Given the description of an element on the screen output the (x, y) to click on. 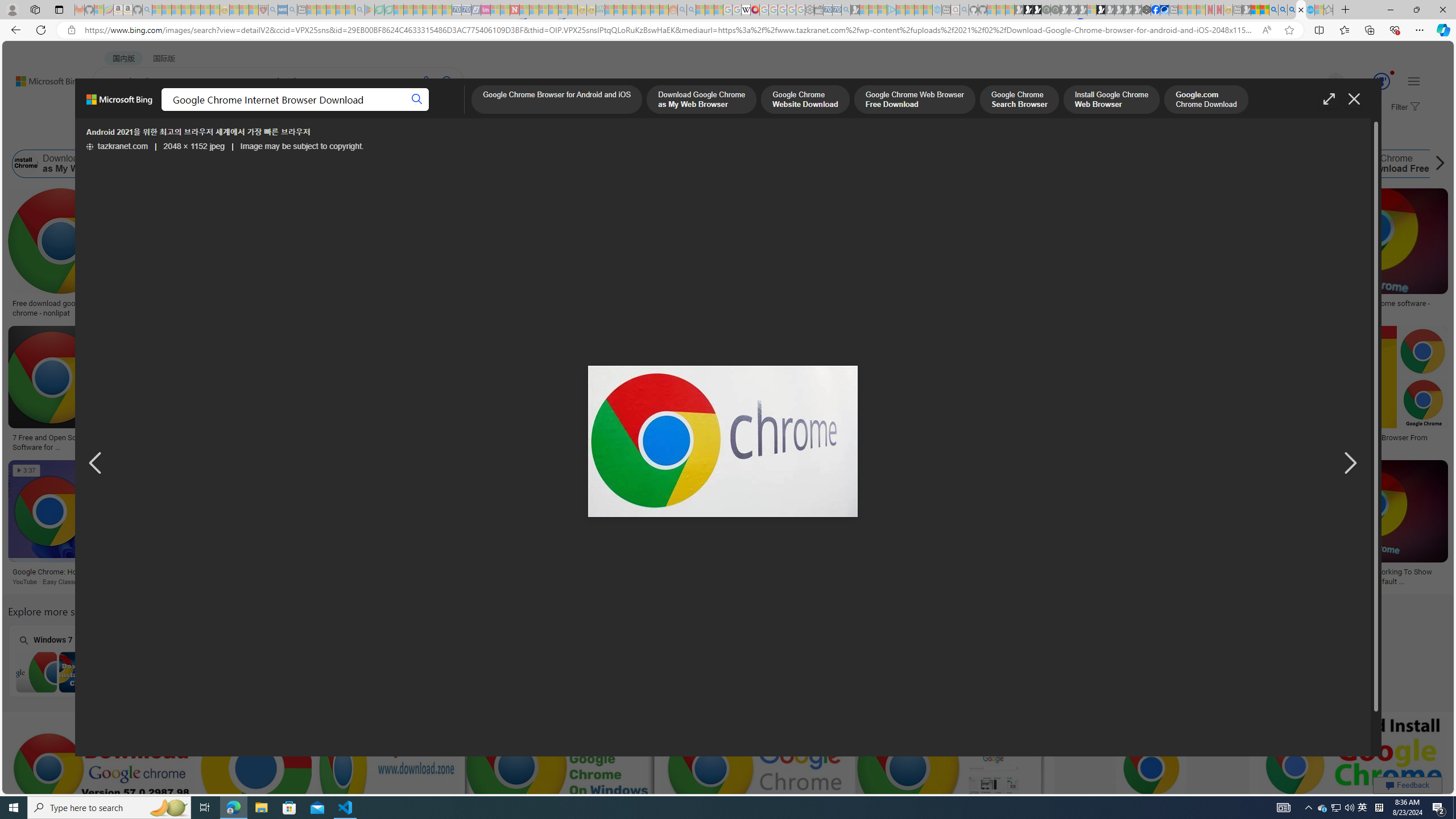
NCL Adult Asthma Inhaler Choice Guideline - Sleeping (282, 9)
wizardsgase - Blog (844, 303)
MY BING (156, 111)
Layout (253, 135)
list of asthma inhalers uk - Search - Sleeping (272, 9)
Class: item col (1379, 163)
Trusted Community Engagement and Contributions | Guidelines (524, 9)
Image may be subject to copyright. (302, 146)
Download video online chrome - hresadishSave (190, 254)
